Given the description of an element on the screen output the (x, y) to click on. 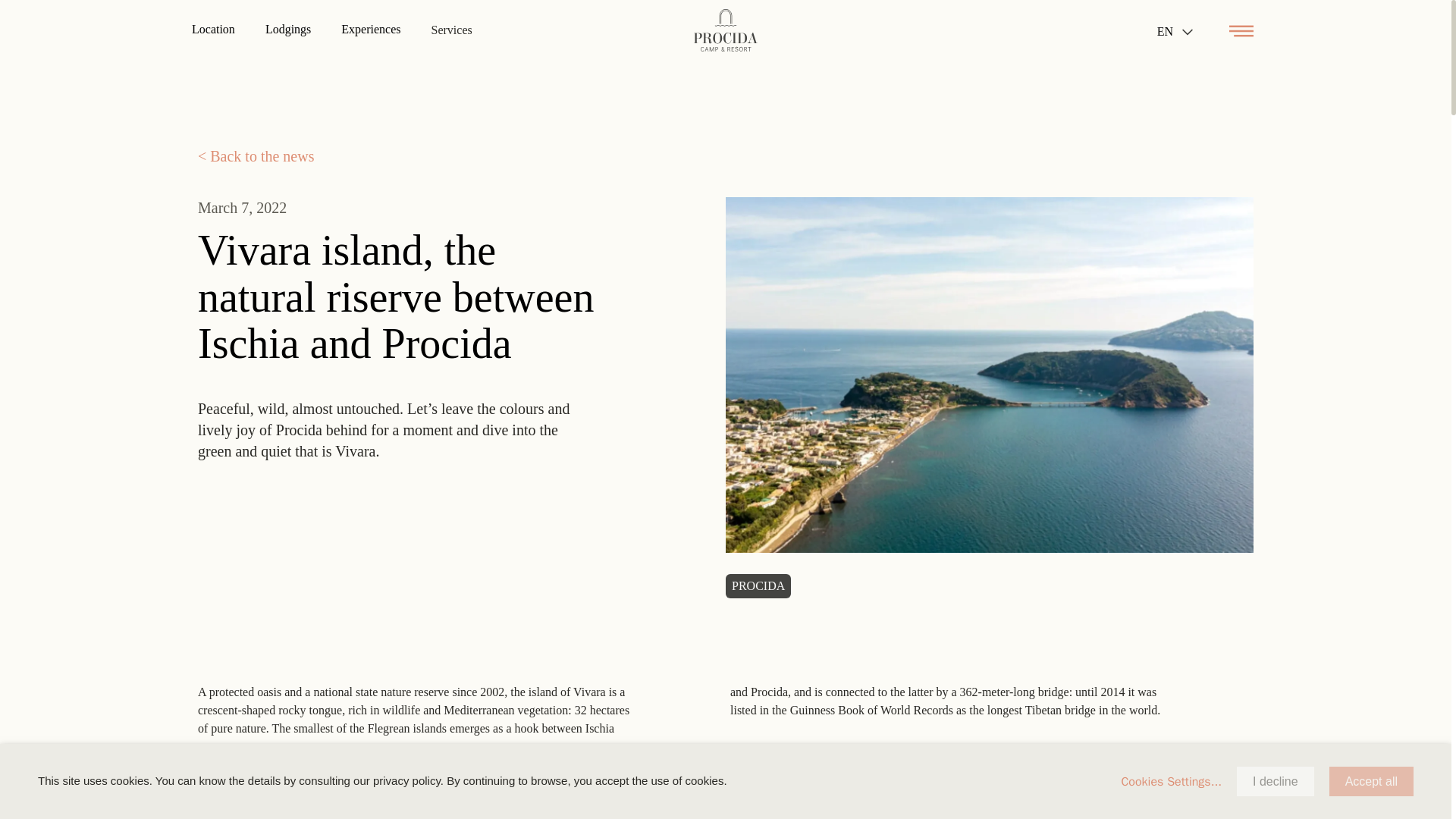
20-04-2024 (843, 792)
20-04-2024 (650, 792)
Lodge (471, 794)
Location (282, 794)
